Given the description of an element on the screen output the (x, y) to click on. 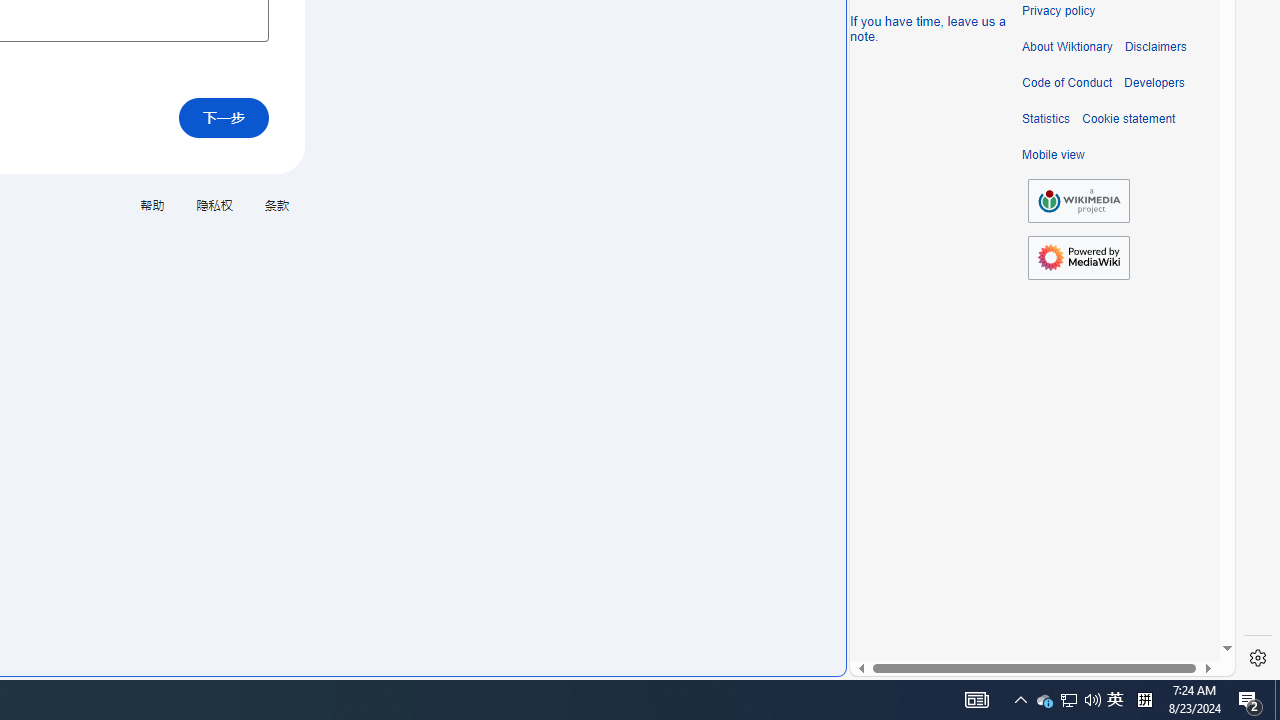
AutomationID: footer-copyrightico (1078, 200)
Cookie statement (1128, 119)
Developers (1154, 83)
Powered by MediaWiki (1078, 257)
